Given the description of an element on the screen output the (x, y) to click on. 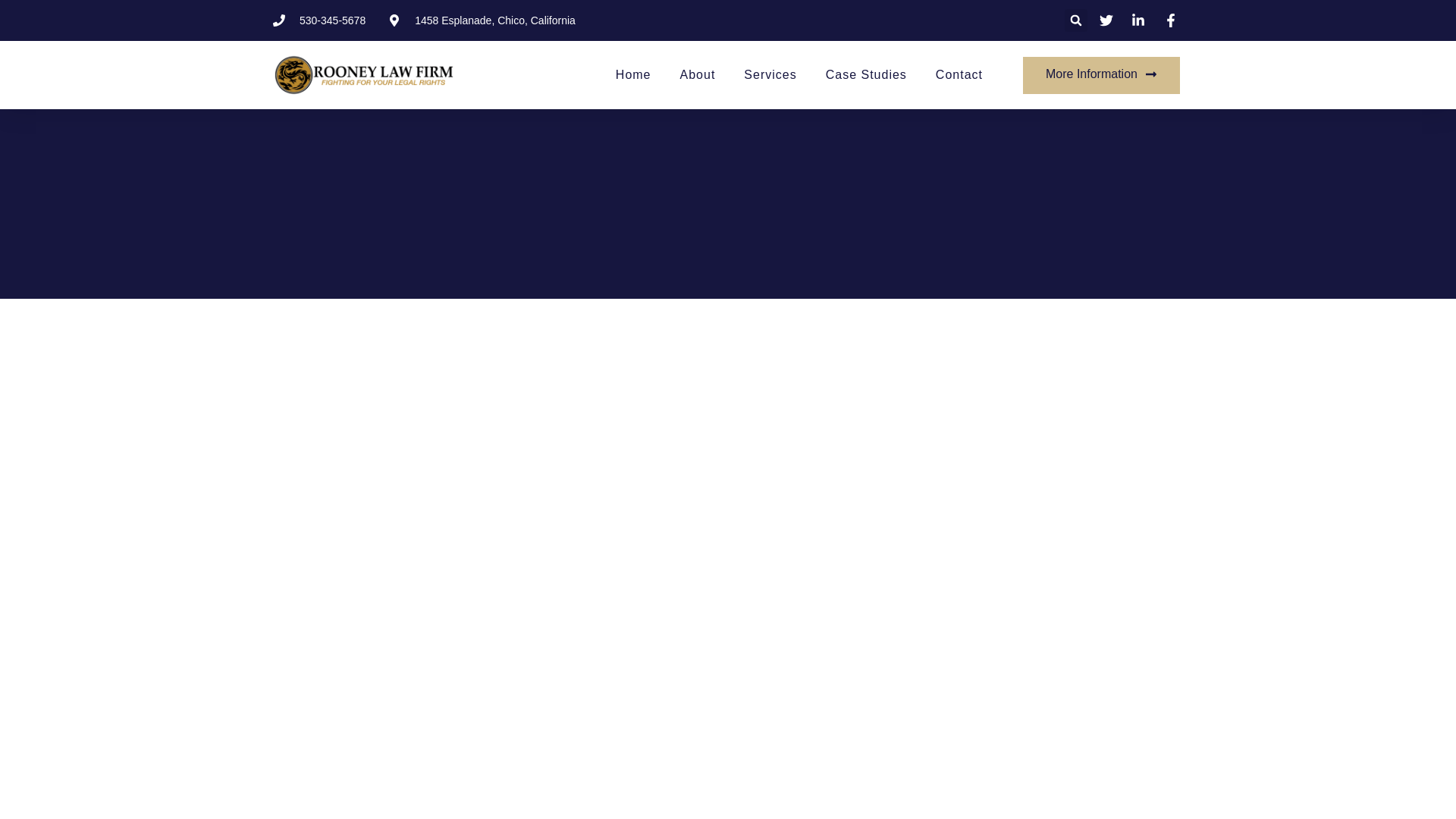
Home (632, 74)
About (697, 74)
Services (770, 74)
